Given the description of an element on the screen output the (x, y) to click on. 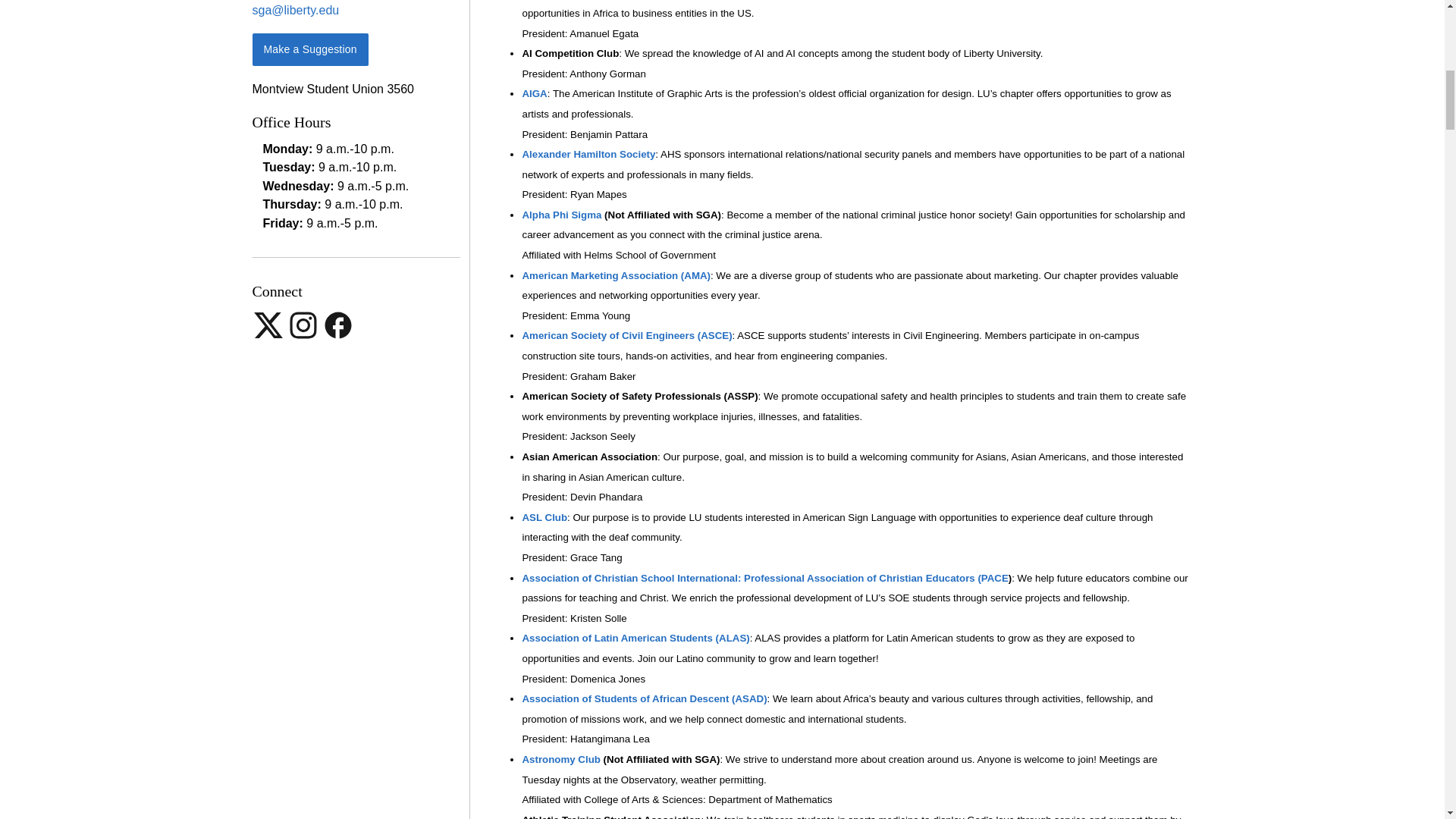
Facebook (337, 336)
Instagram (303, 336)
X Twitter (268, 336)
